Given the description of an element on the screen output the (x, y) to click on. 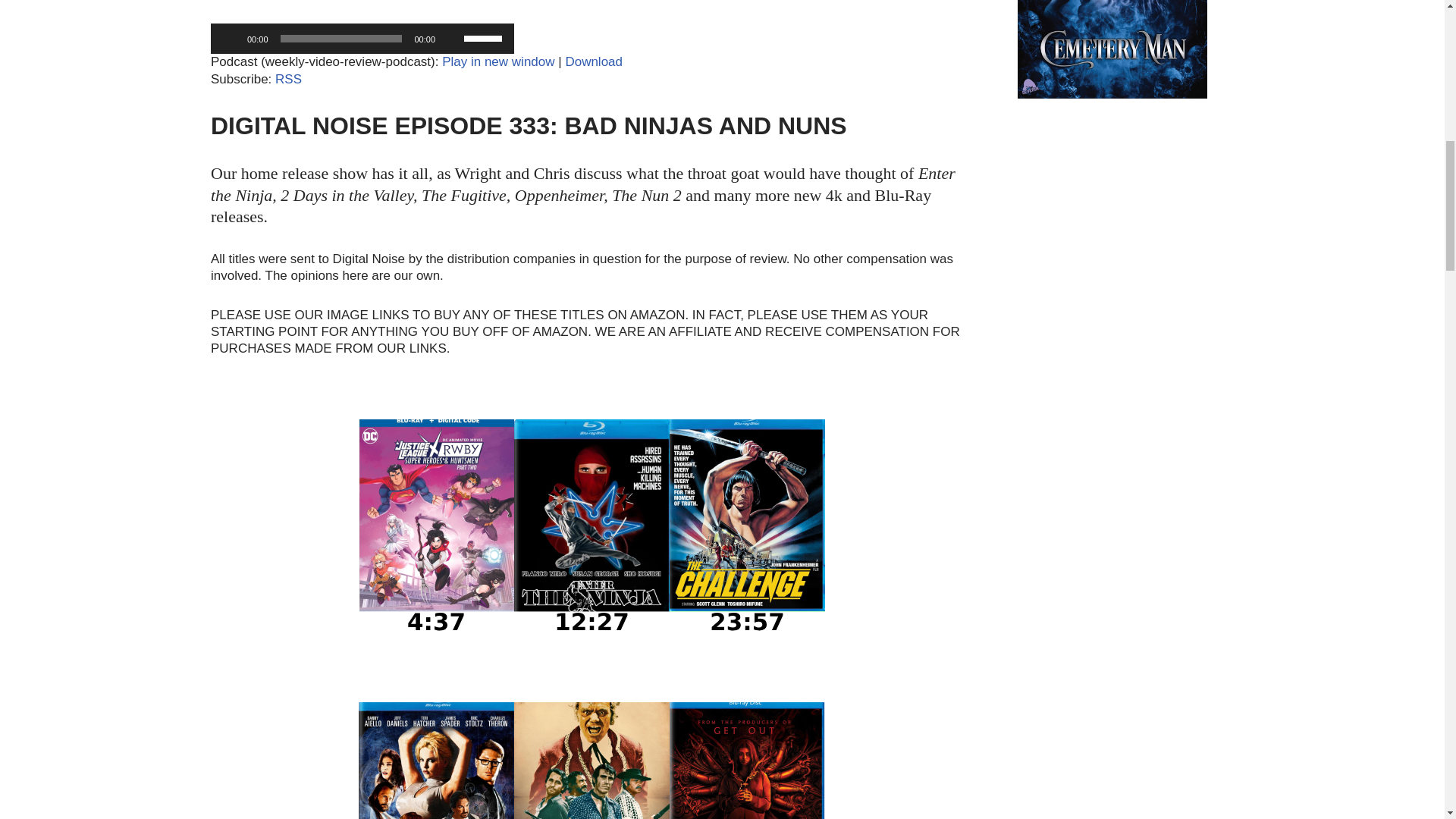
Mute (452, 38)
Download (593, 61)
Play in new window (498, 61)
Play (230, 38)
Subscribe via RSS (288, 79)
